Given the description of an element on the screen output the (x, y) to click on. 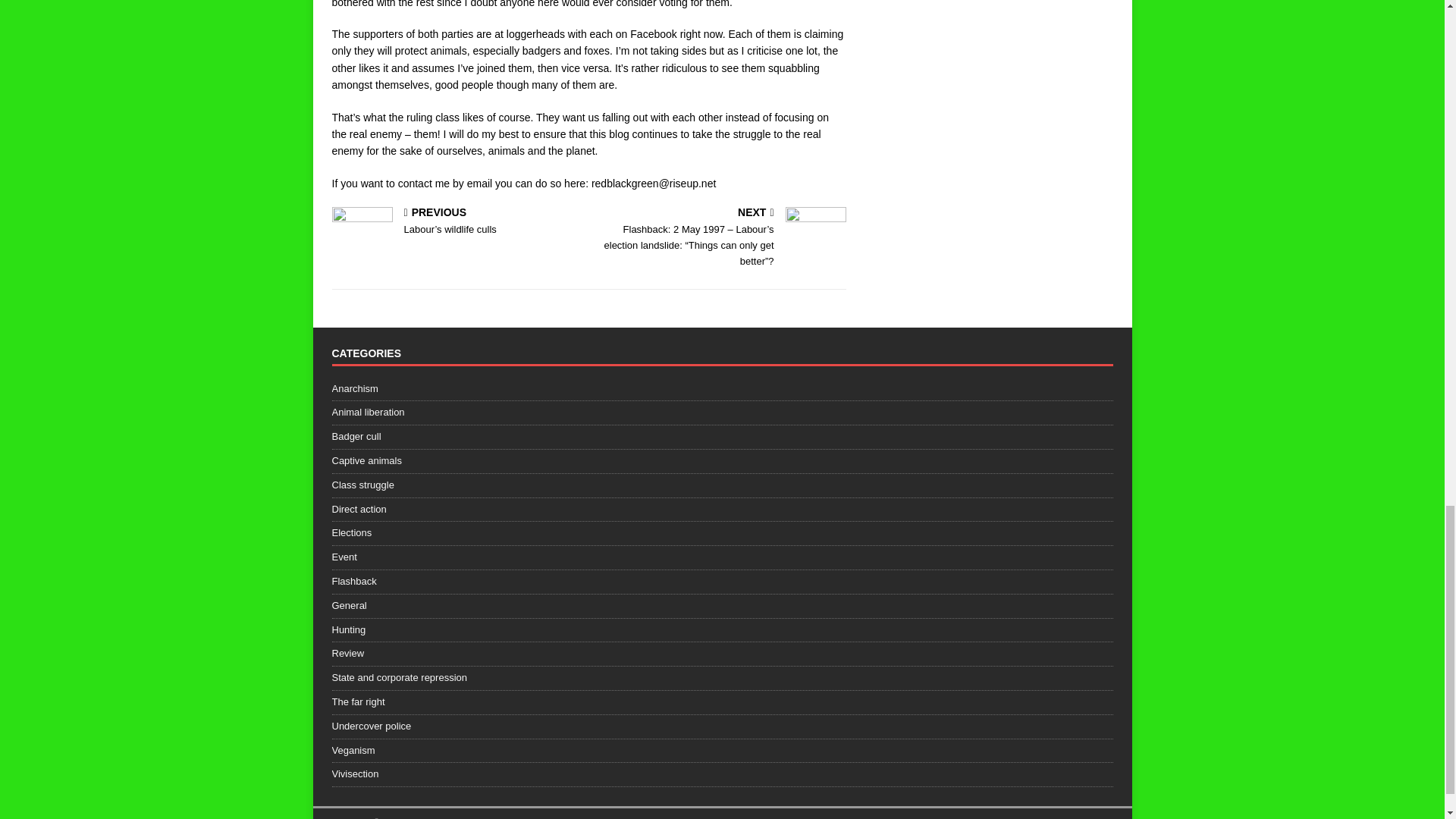
Animal liberation (722, 413)
Captive animals (722, 461)
Badger cull (722, 436)
Anarchism (722, 391)
